Given the description of an element on the screen output the (x, y) to click on. 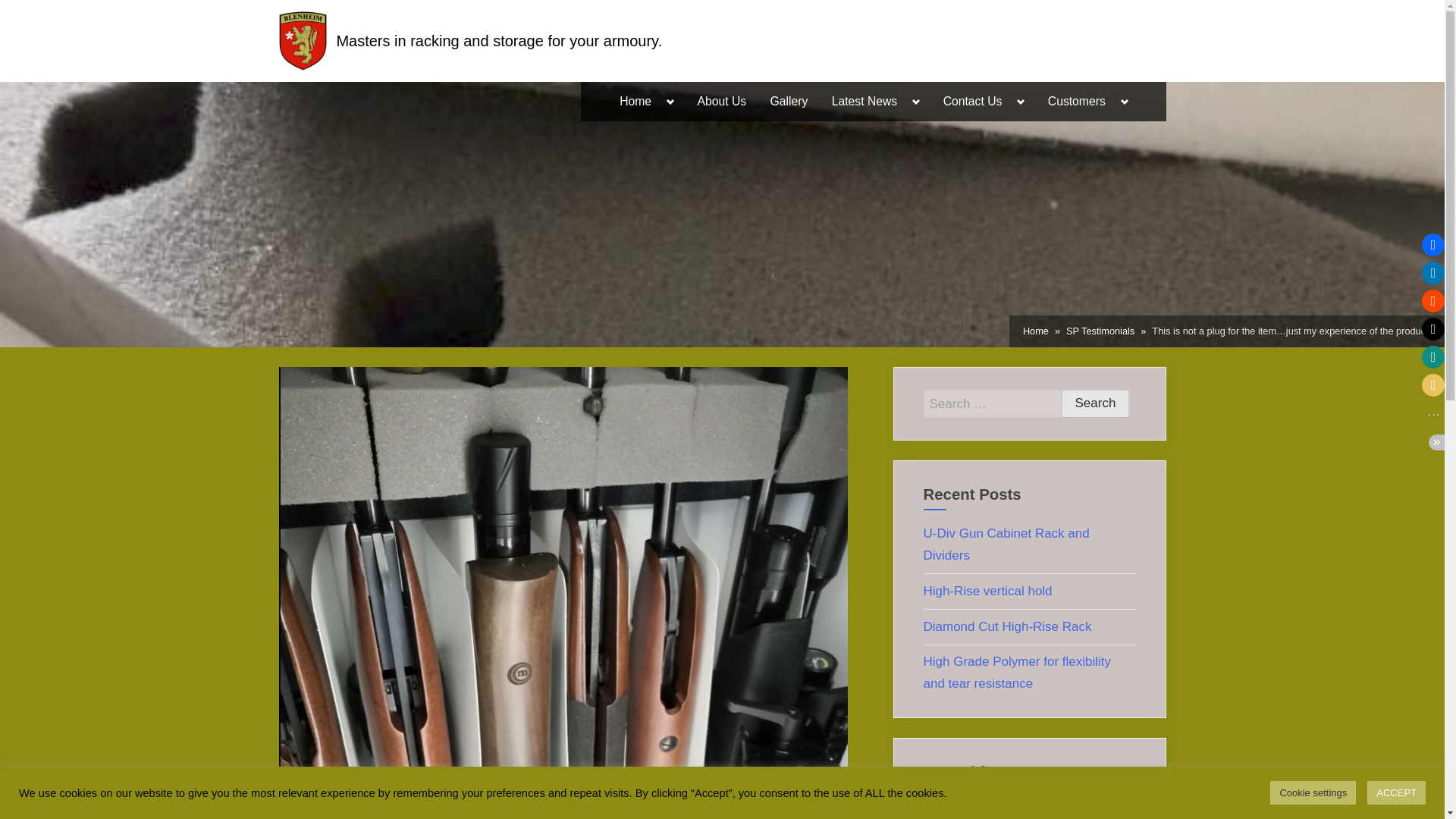
Search (1095, 403)
Contact Us (972, 101)
Search (1095, 403)
Latest News (864, 101)
Gallery (788, 101)
Diamond Cut High-Rise Rack (1007, 626)
Toggle sub-menu (916, 102)
High Grade Polymer for flexibility and tear resistance (1017, 672)
Search (1095, 403)
U-Div Gun Cabinet Rack and Dividers (1006, 544)
Home (1035, 330)
About Us (721, 101)
High-Rise vertical hold (987, 590)
SP Testimonials (1099, 330)
Toggle sub-menu (1124, 102)
